Given the description of an element on the screen output the (x, y) to click on. 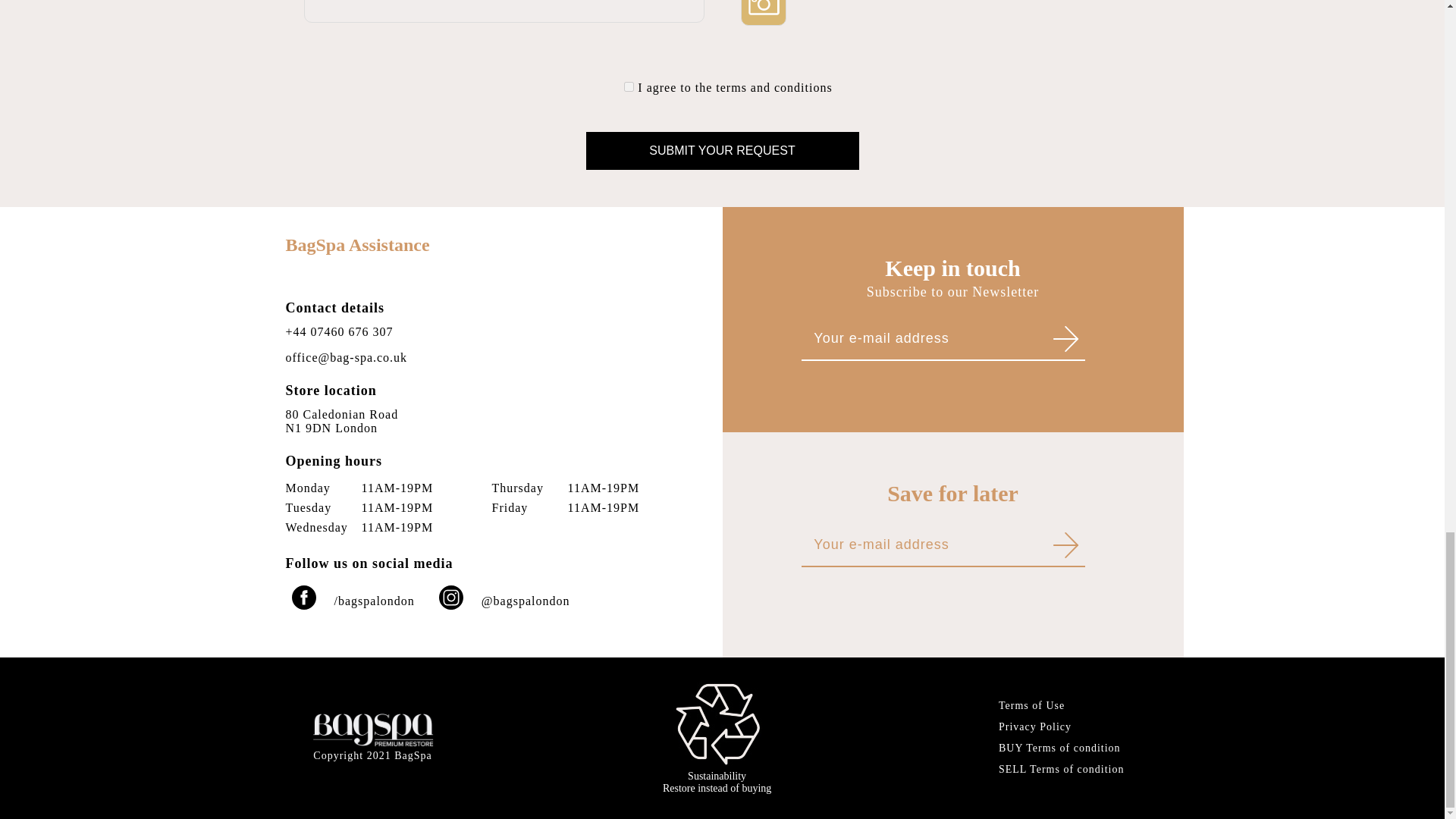
Submit your request (722, 150)
Privacy Policy (1061, 727)
Submit your request (722, 150)
SELL Terms of condition (1061, 769)
BUY Terms of condition (716, 781)
